Given the description of an element on the screen output the (x, y) to click on. 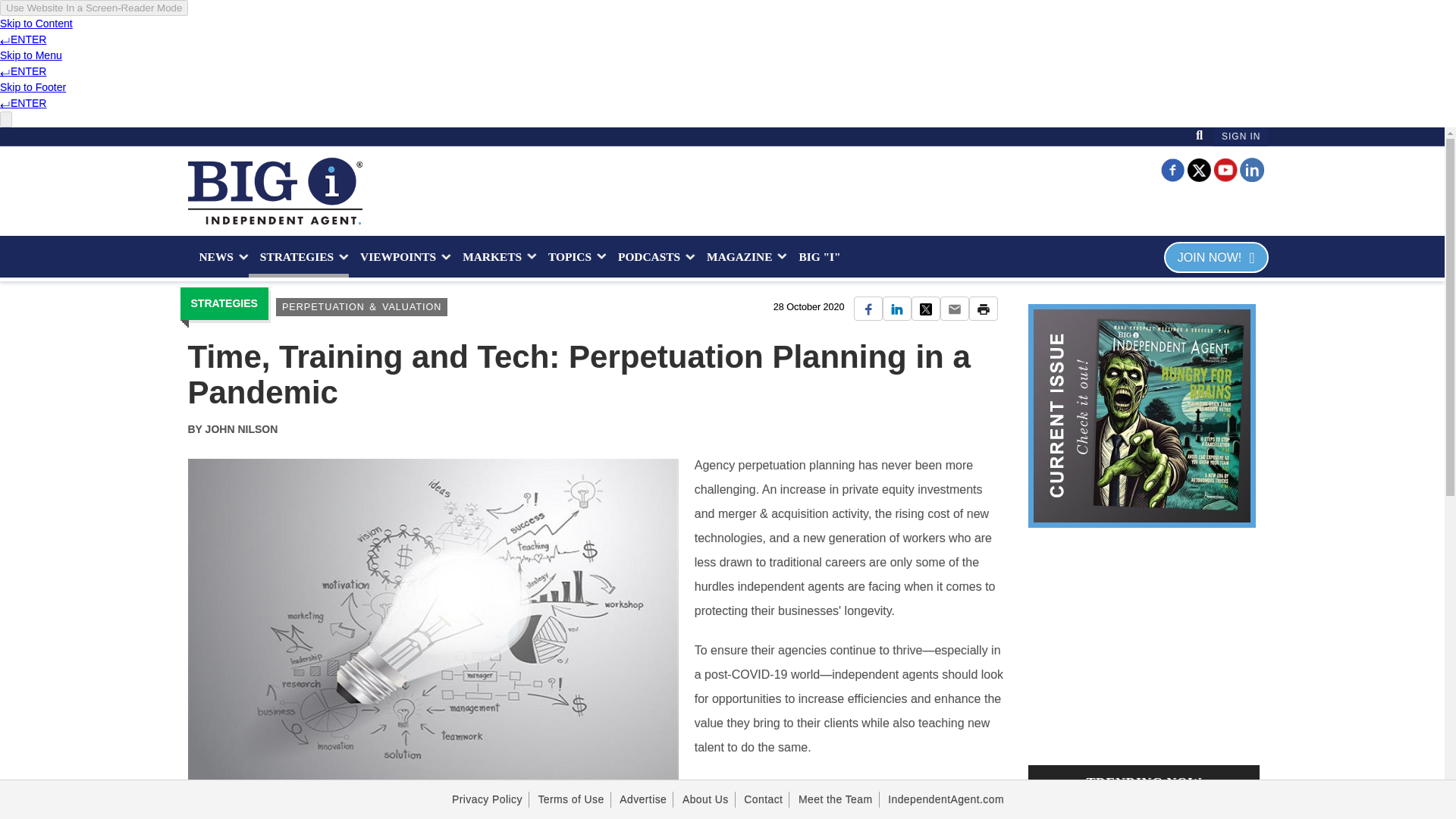
VIEWPOINTS (400, 256)
YouTube (1225, 168)
Home (274, 190)
SIGN IN (1241, 136)
Home (274, 191)
NEWS (217, 256)
LinkedIn (1252, 168)
JOIN NOW! (1215, 256)
STRATEGIES (298, 256)
Sign In to access benefits (1241, 136)
